Given the description of an element on the screen output the (x, y) to click on. 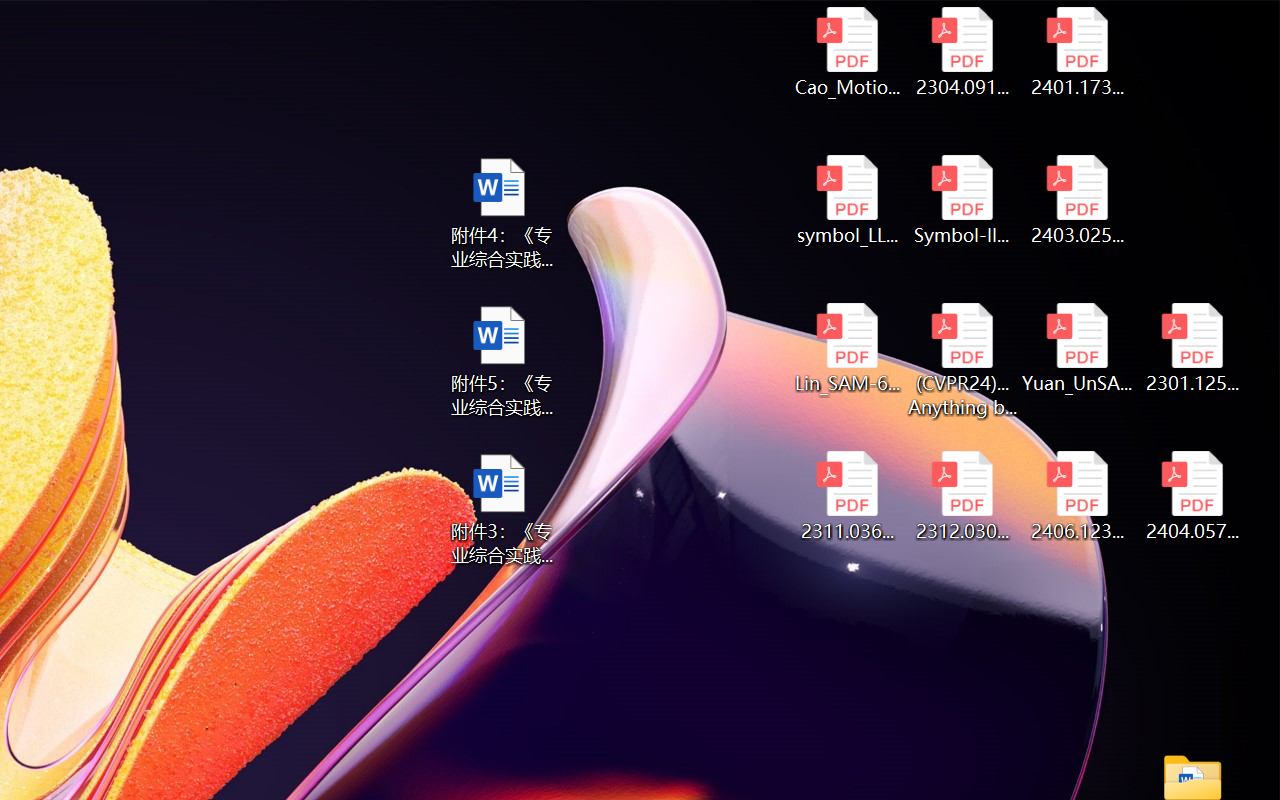
2403.02502v1.pdf (1077, 200)
symbol_LLM.pdf (846, 200)
2312.03032v2.pdf (962, 496)
(CVPR24)Matching Anything by Segmenting Anything.pdf (962, 360)
2311.03658v2.pdf (846, 496)
2301.12597v3.pdf (1192, 348)
Symbol-llm-v2.pdf (962, 200)
2401.17399v1.pdf (1077, 52)
2404.05719v1.pdf (1192, 496)
2304.09121v3.pdf (962, 52)
